Given the description of an element on the screen output the (x, y) to click on. 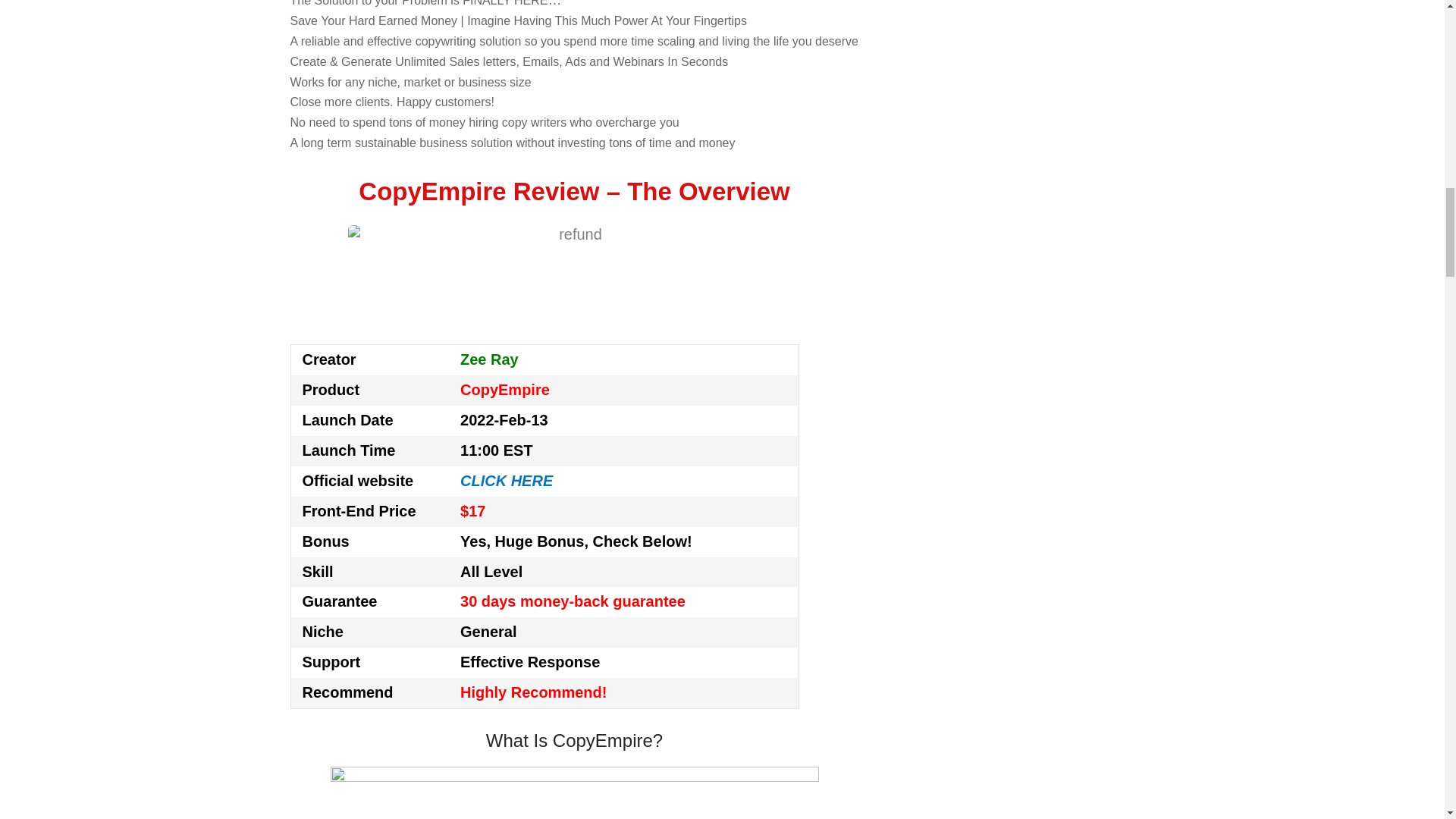
CLICK HERE (506, 480)
